Given the description of an element on the screen output the (x, y) to click on. 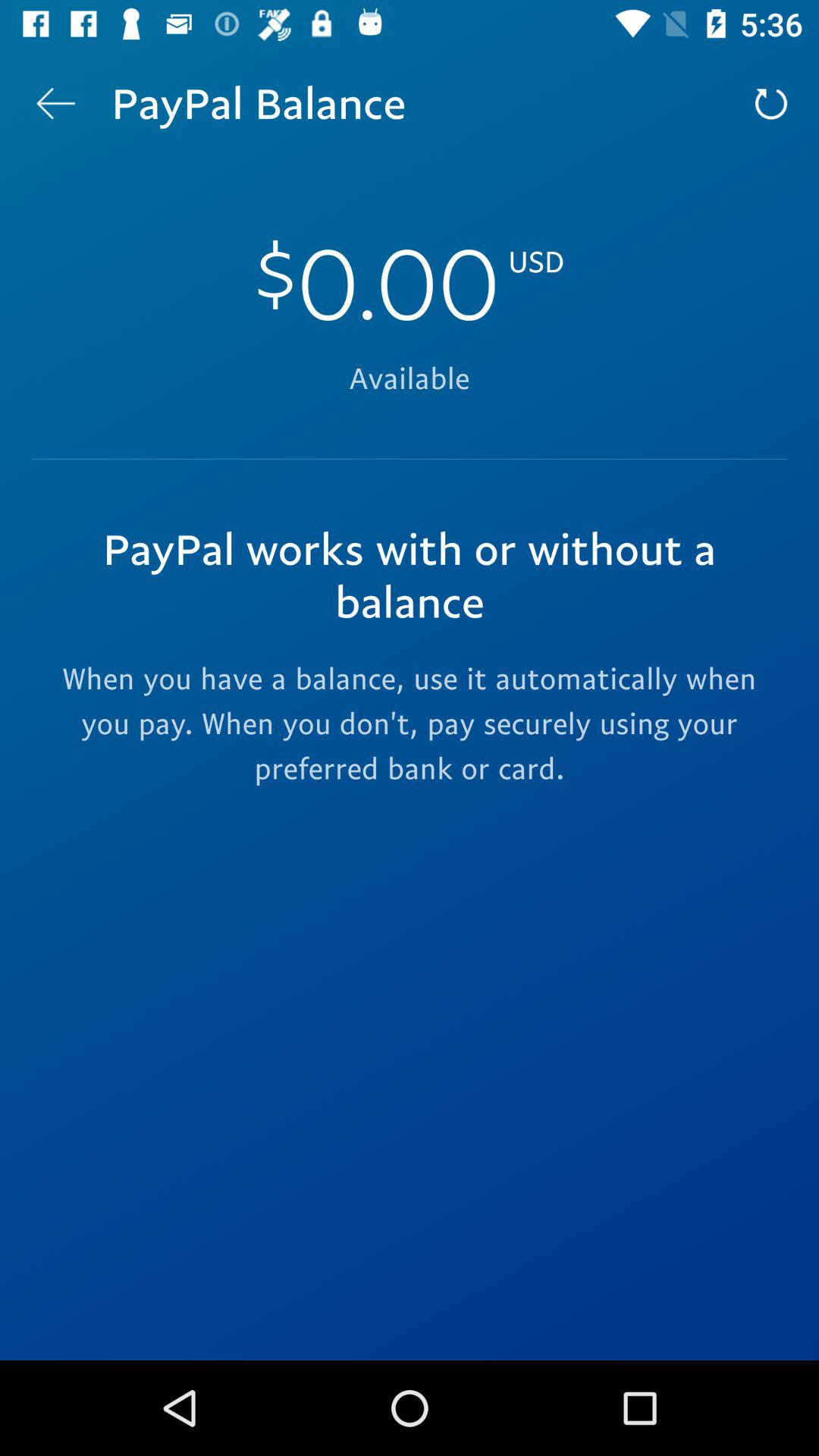
open the item next to paypal balance (771, 103)
